Given the description of an element on the screen output the (x, y) to click on. 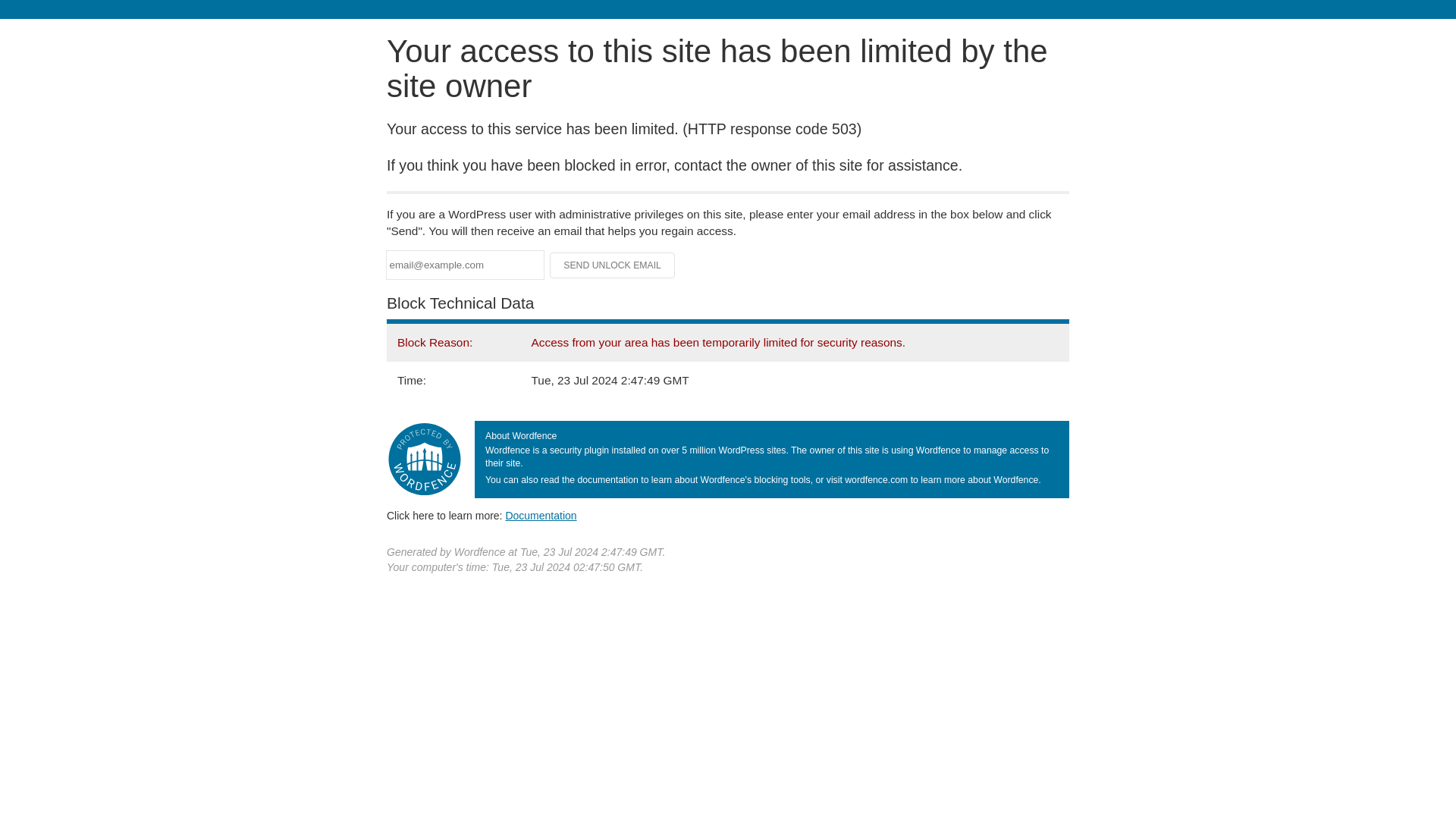
Send Unlock Email (612, 265)
Documentation (540, 515)
Send Unlock Email (612, 265)
